Given the description of an element on the screen output the (x, y) to click on. 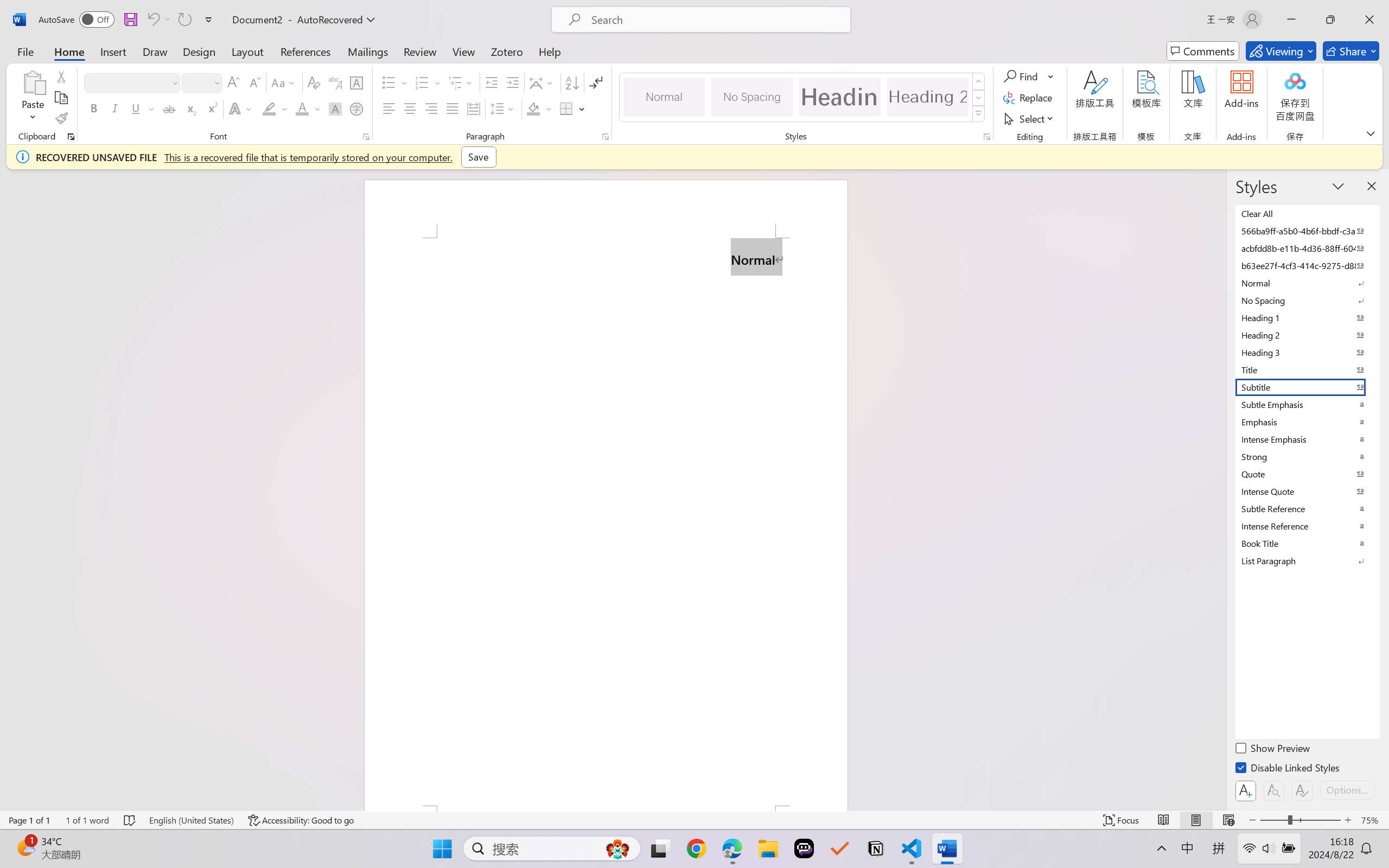
List Paragraph (1306, 560)
Shading RGB(0, 0, 0) (533, 108)
Mode (1280, 50)
Help (549, 51)
Normal (1306, 282)
Line and Paragraph Spacing (503, 108)
Can't Undo (158, 19)
